Given the description of an element on the screen output the (x, y) to click on. 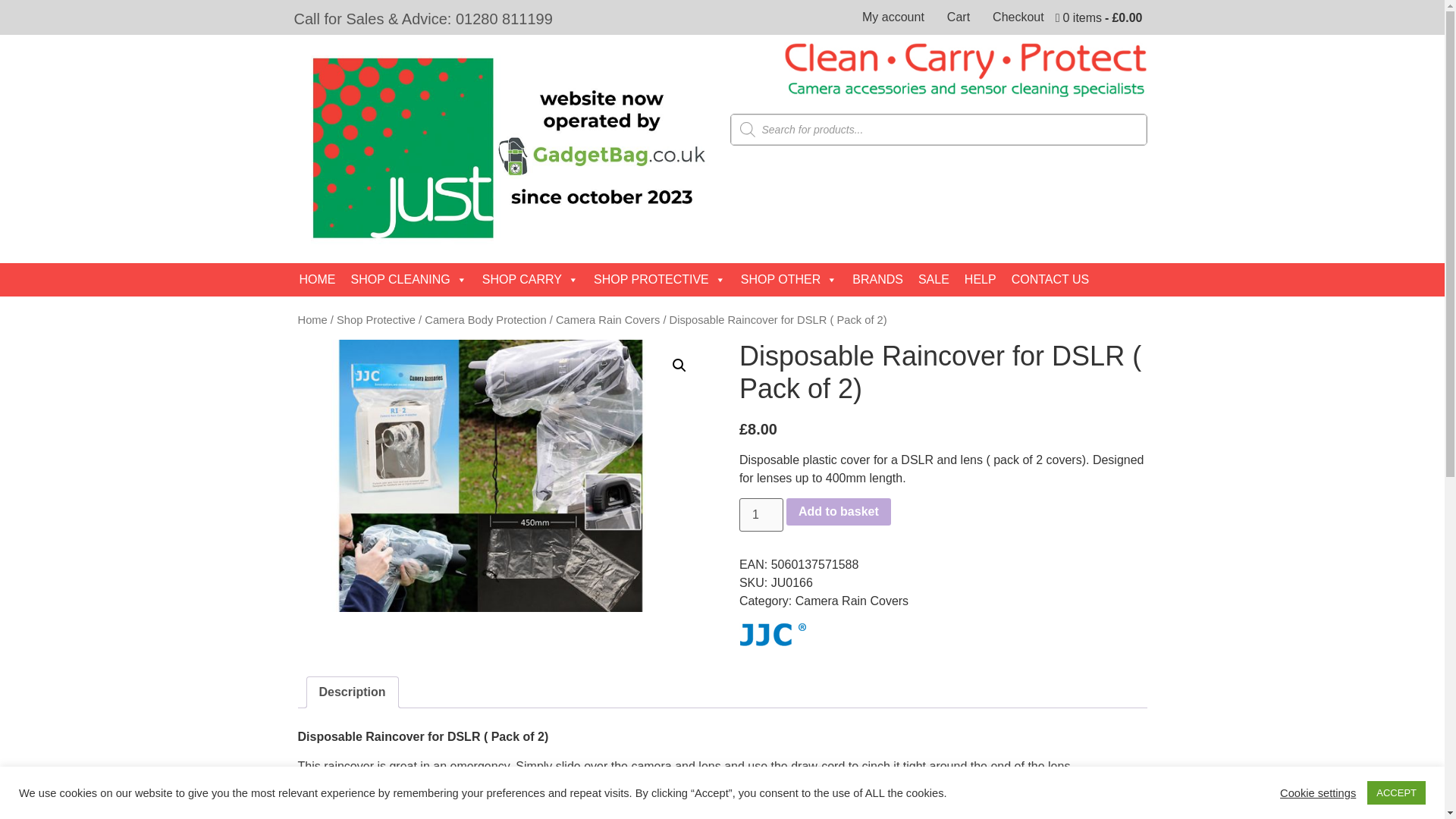
Cart (958, 17)
ju0166 (500, 474)
My account (893, 17)
Checkout (1018, 17)
SHOP PROTECTIVE (659, 279)
SHOP CARRY (530, 279)
Start shopping (1098, 17)
HOME (316, 279)
SHOP CLEANING (408, 279)
JJC (772, 636)
